Given the description of an element on the screen output the (x, y) to click on. 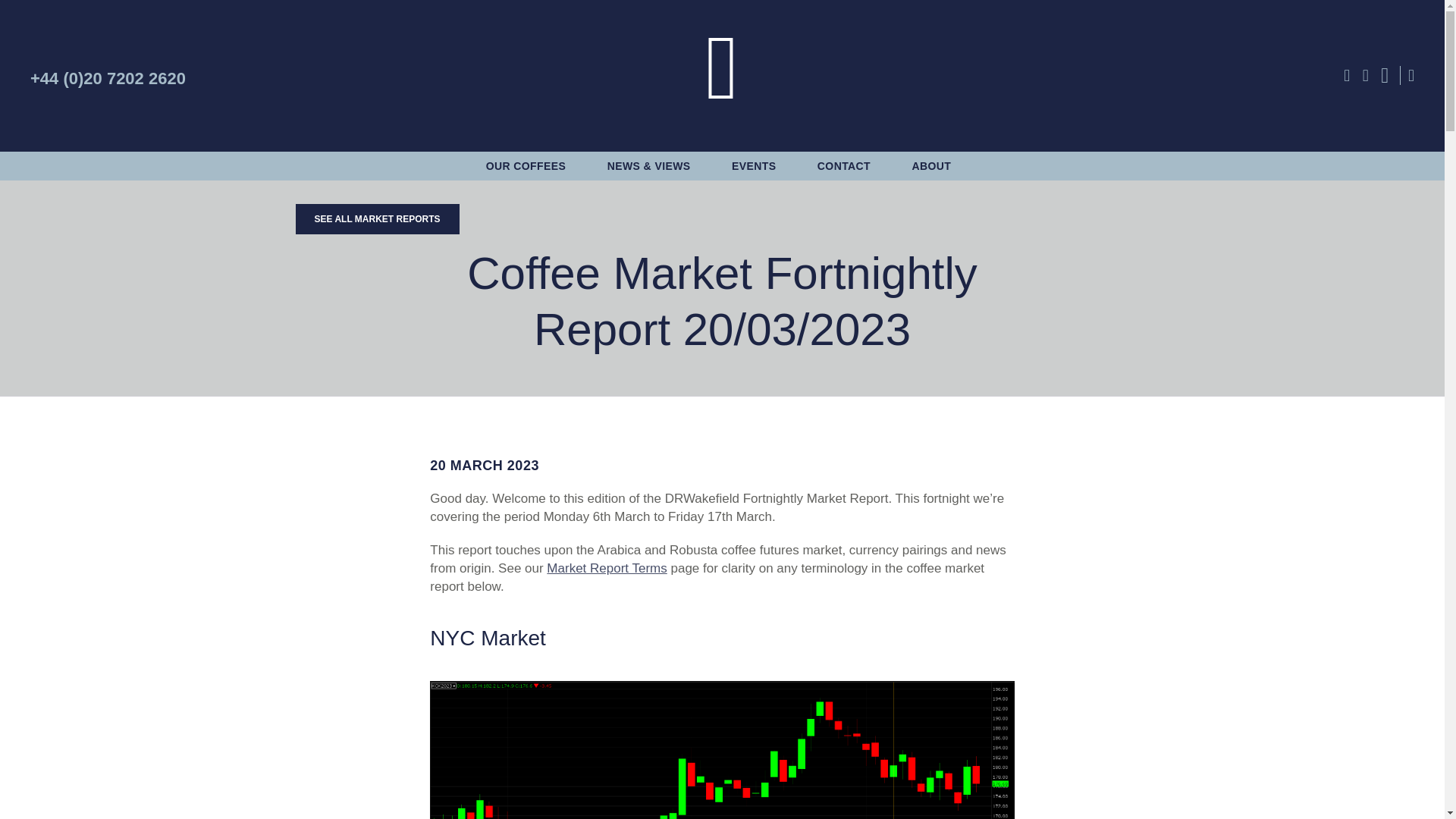
EVENTS (753, 165)
OUR COFFEES (526, 165)
ABOUT (932, 165)
CONTACT (843, 165)
